Given the description of an element on the screen output the (x, y) to click on. 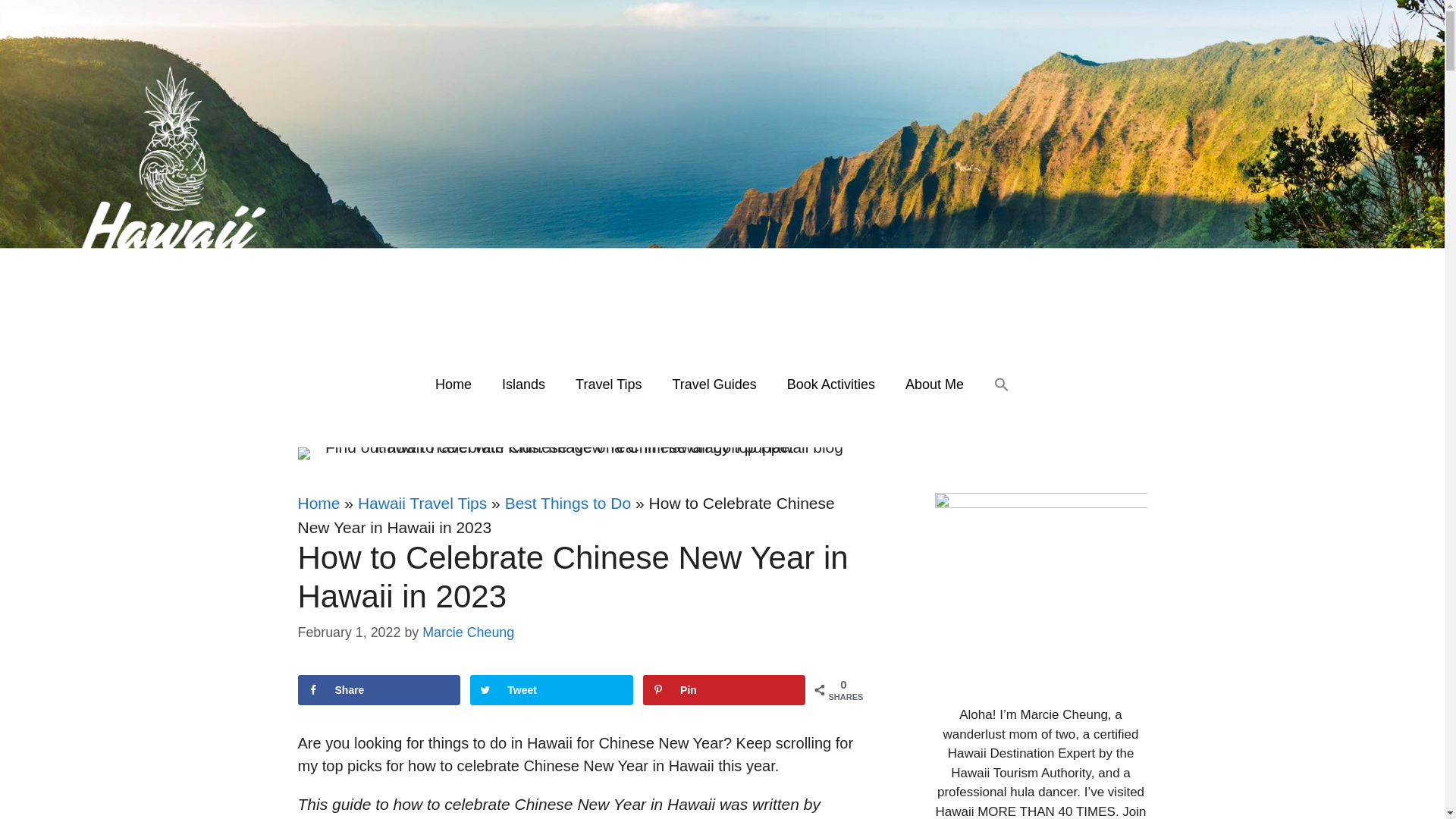
Home (453, 384)
Book Activities (830, 384)
Share on Twitter (550, 689)
Save to Pinterest (724, 689)
About Me (933, 384)
Islands (523, 384)
Travel Tips (608, 384)
Travel Guides (713, 384)
Share on Facebook (378, 689)
View all posts by Marcie Cheung (467, 631)
